Given the description of an element on the screen output the (x, y) to click on. 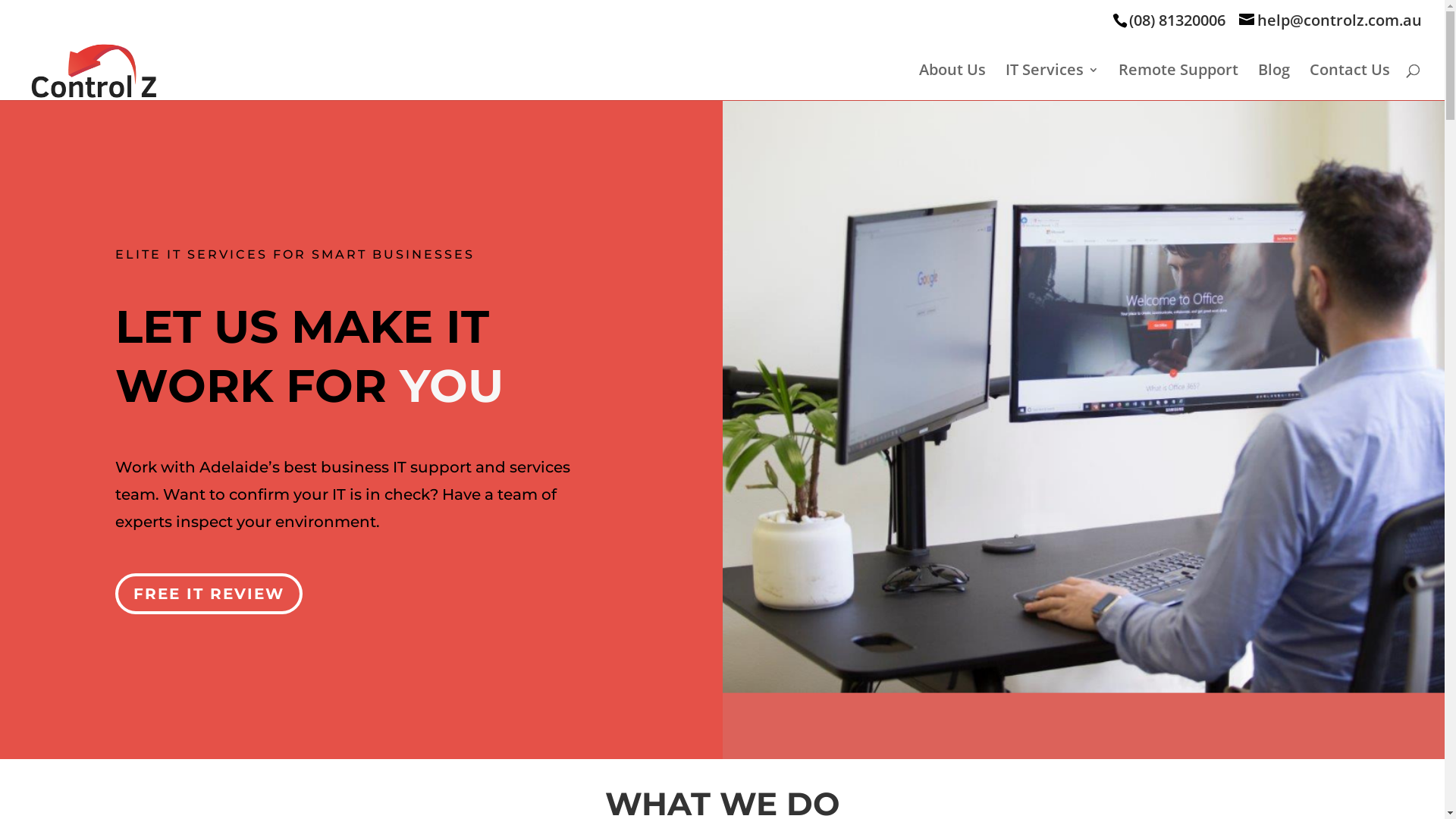
About Us Element type: text (952, 82)
IT Services Element type: text (1051, 82)
Blog Element type: text (1273, 82)
FREE IT REVIEW Element type: text (208, 593)
Contact Us Element type: text (1349, 82)
Remote Support Element type: text (1178, 82)
help@controlz.com.au Element type: text (1330, 19)
